Given the description of an element on the screen output the (x, y) to click on. 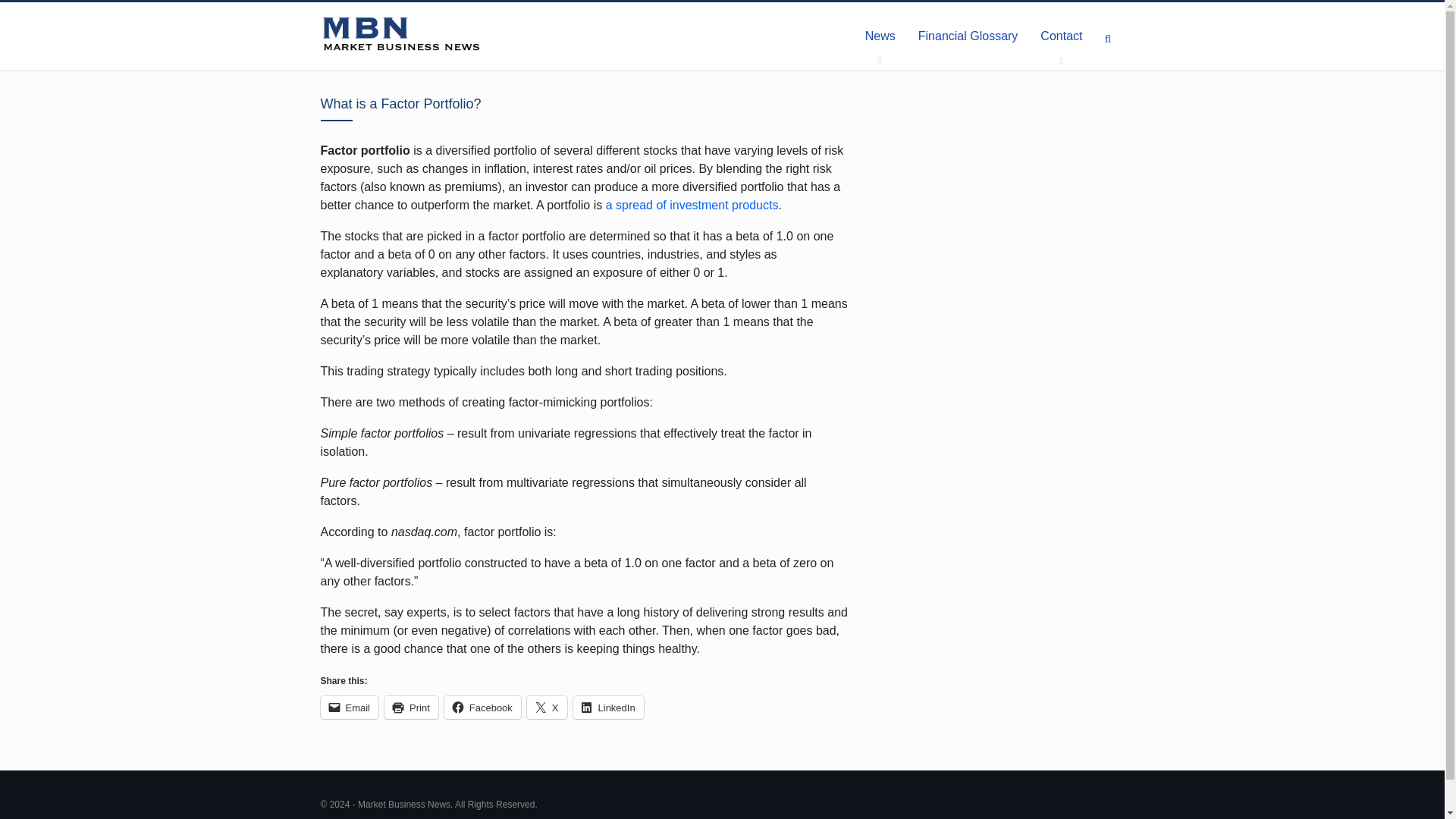
Click to print (411, 707)
Print (411, 707)
Contact (1061, 36)
Facebook (482, 707)
X (547, 707)
Click to share on LinkedIn (608, 707)
a spread of investment products (691, 205)
LinkedIn (608, 707)
Click to share on X (547, 707)
Financial Glossary (968, 36)
